Given the description of an element on the screen output the (x, y) to click on. 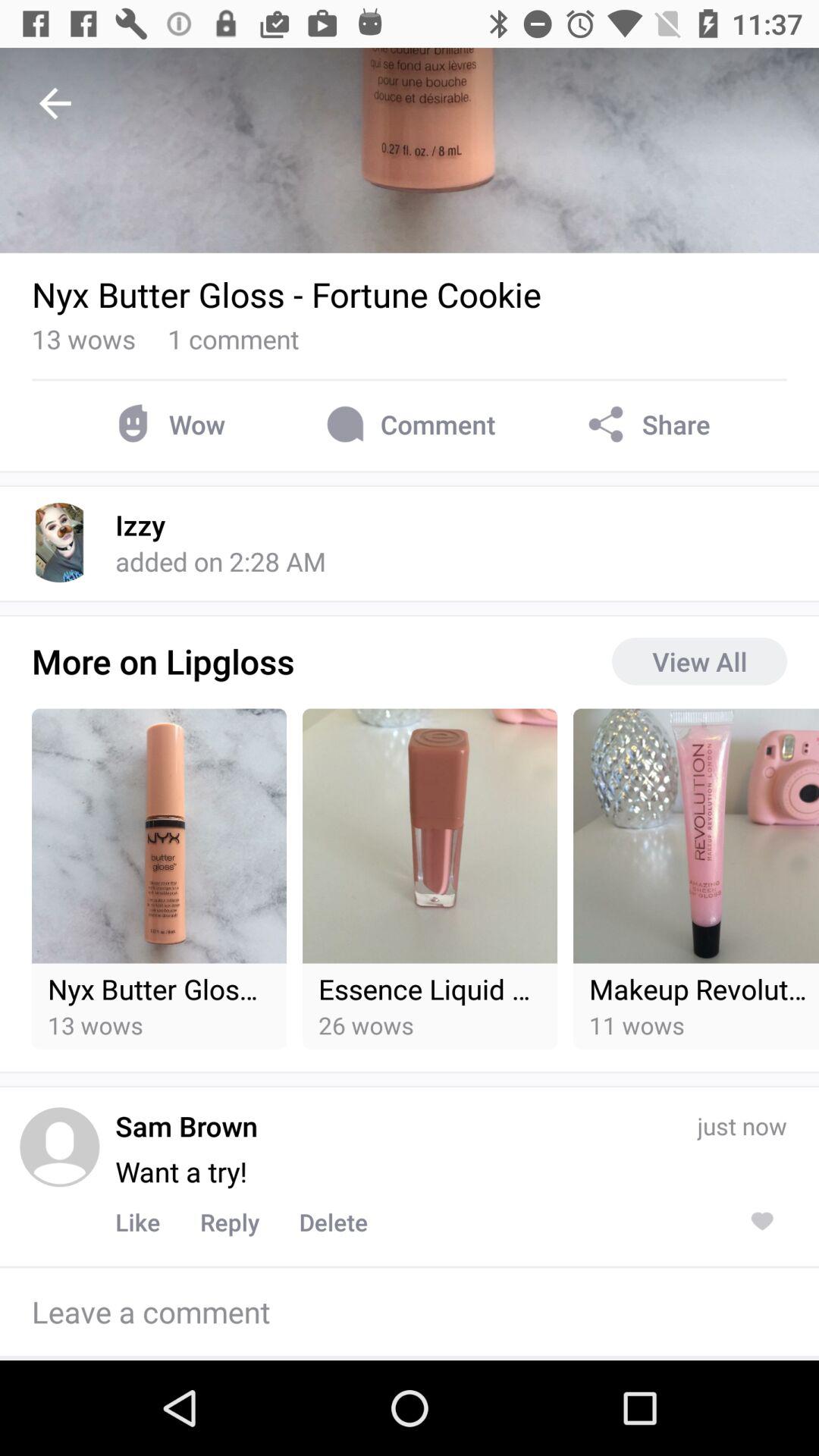
turn on item to the left of the comment icon (166, 424)
